Given the description of an element on the screen output the (x, y) to click on. 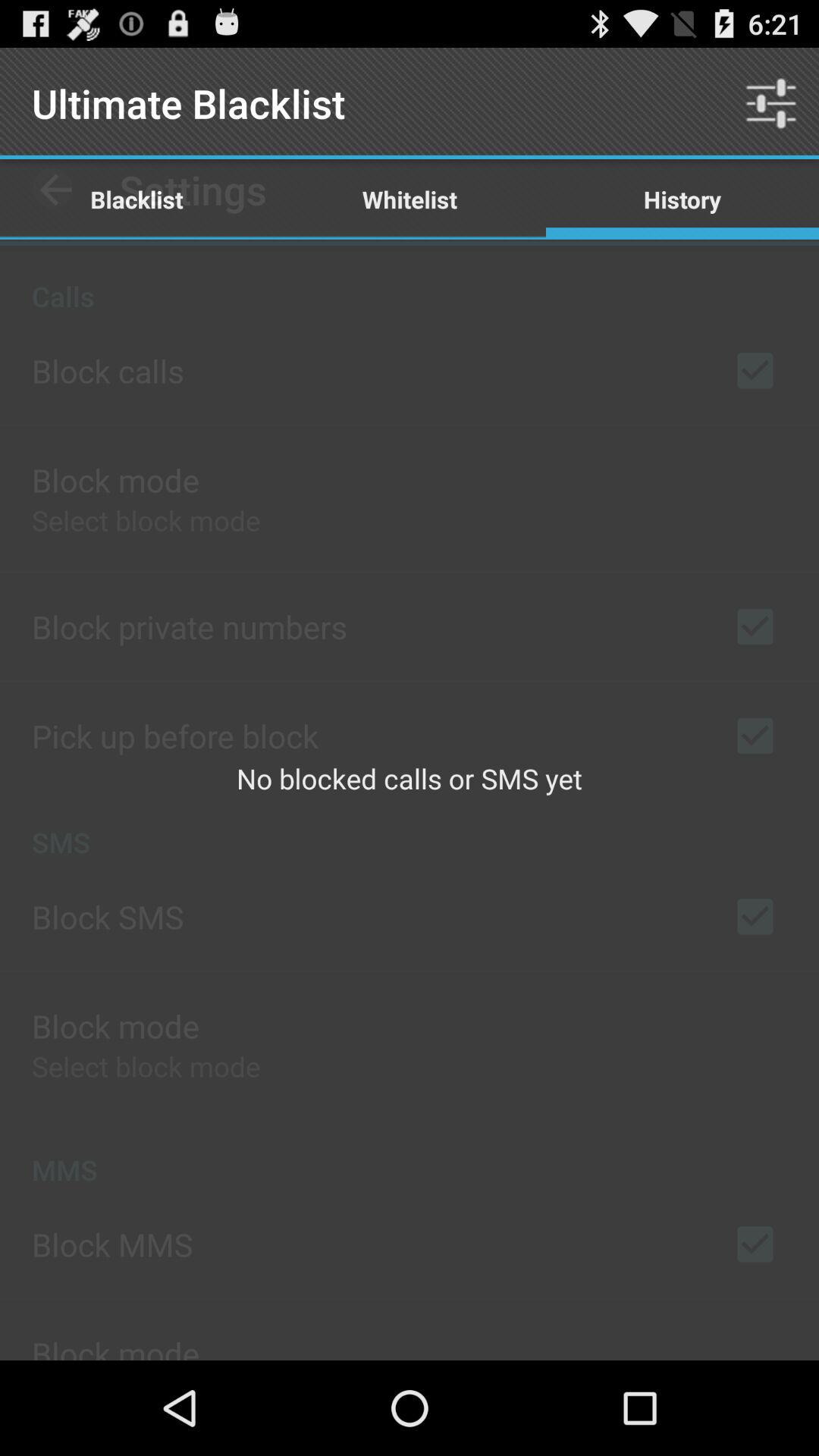
flip to whitelist item (409, 199)
